Given the description of an element on the screen output the (x, y) to click on. 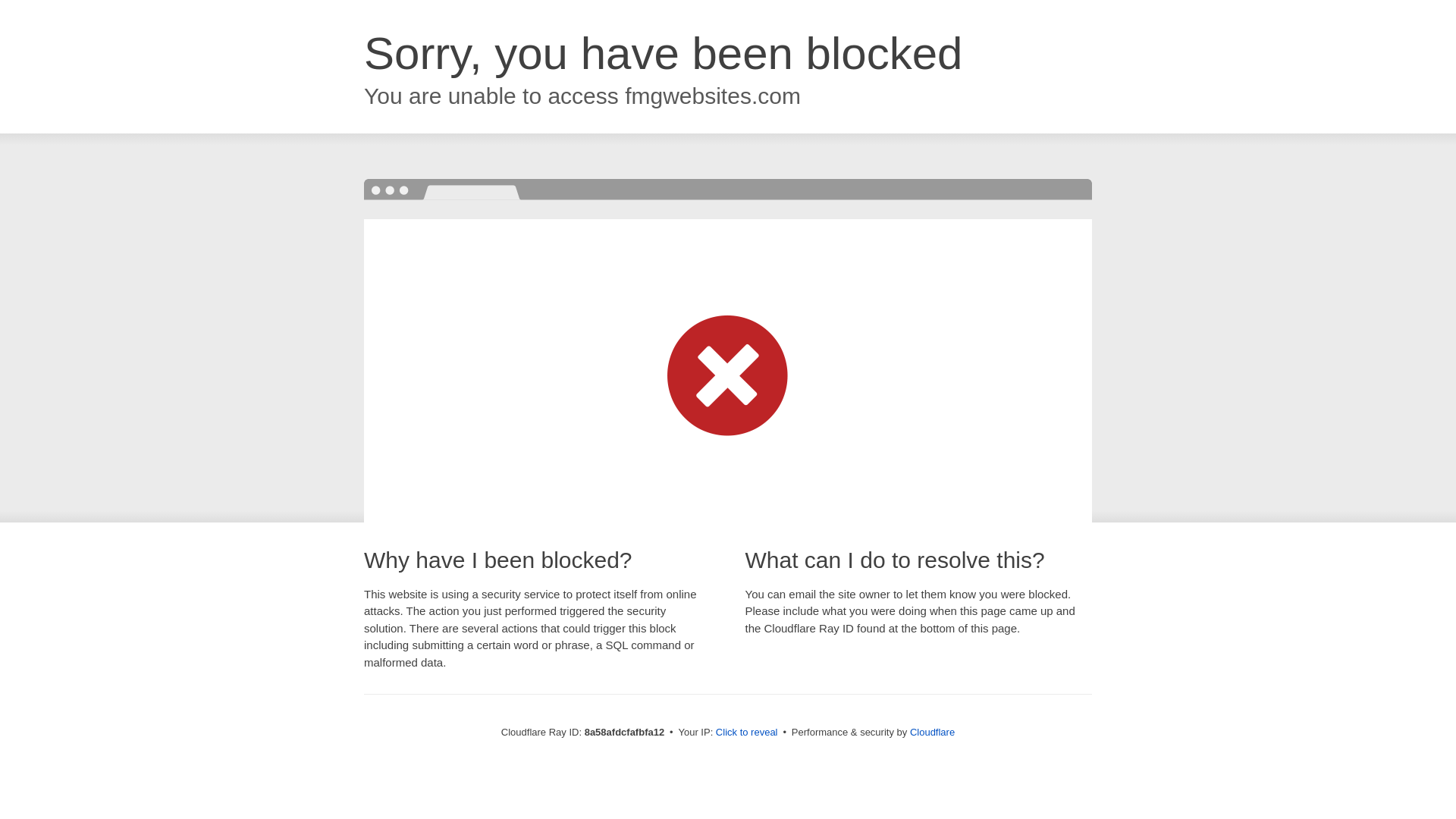
Click to reveal (746, 732)
Cloudflare (932, 731)
